Given the description of an element on the screen output the (x, y) to click on. 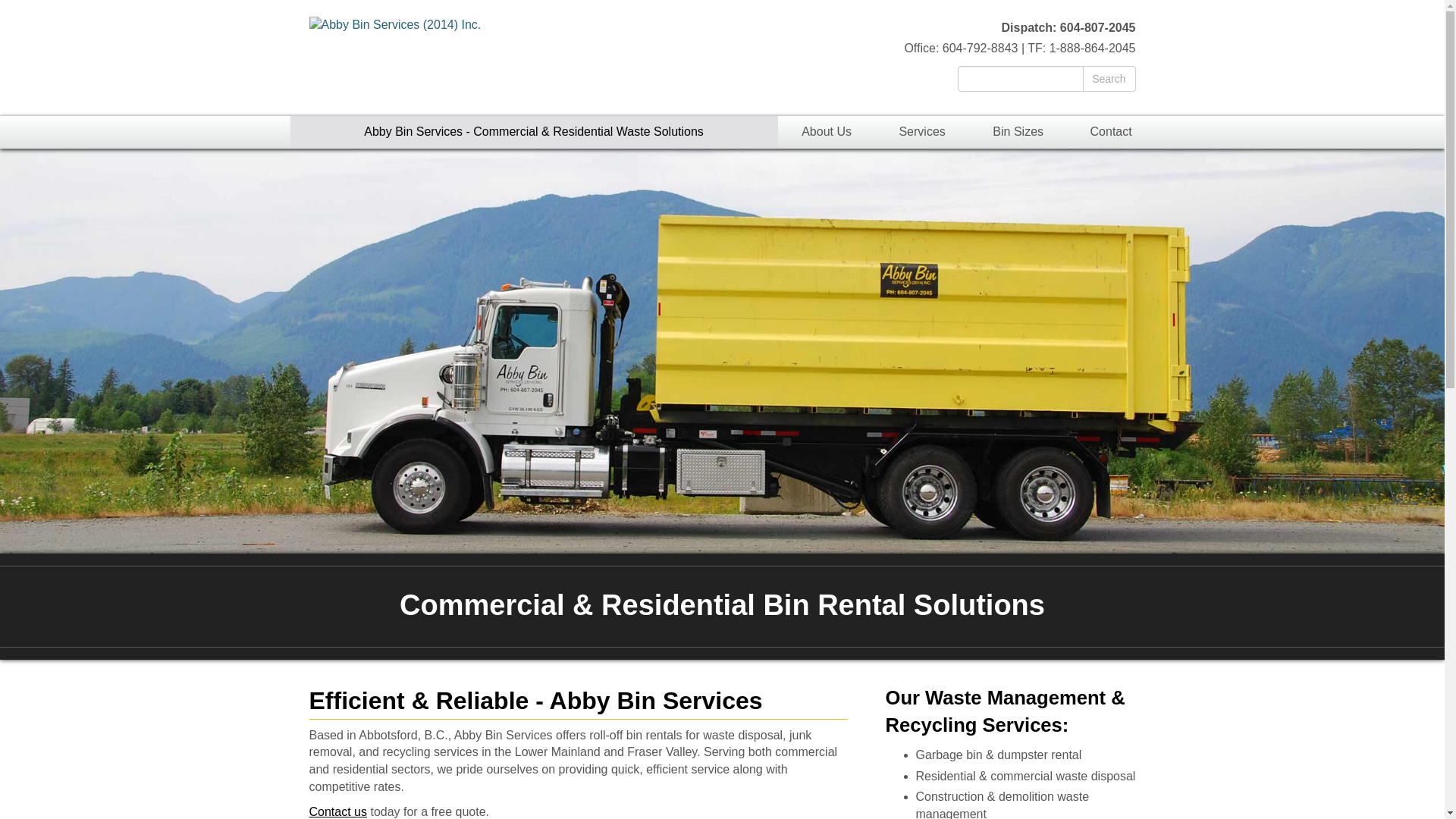
Services Element type: text (922, 132)
Contact Element type: text (1110, 132)
Abby Bin Services - Commercial & Residential Waste Solutions Element type: text (533, 132)
Search Element type: text (1108, 78)
Bin Sizes Element type: text (1018, 132)
About Us Element type: text (826, 132)
Contact us Element type: text (338, 811)
